Given the description of an element on the screen output the (x, y) to click on. 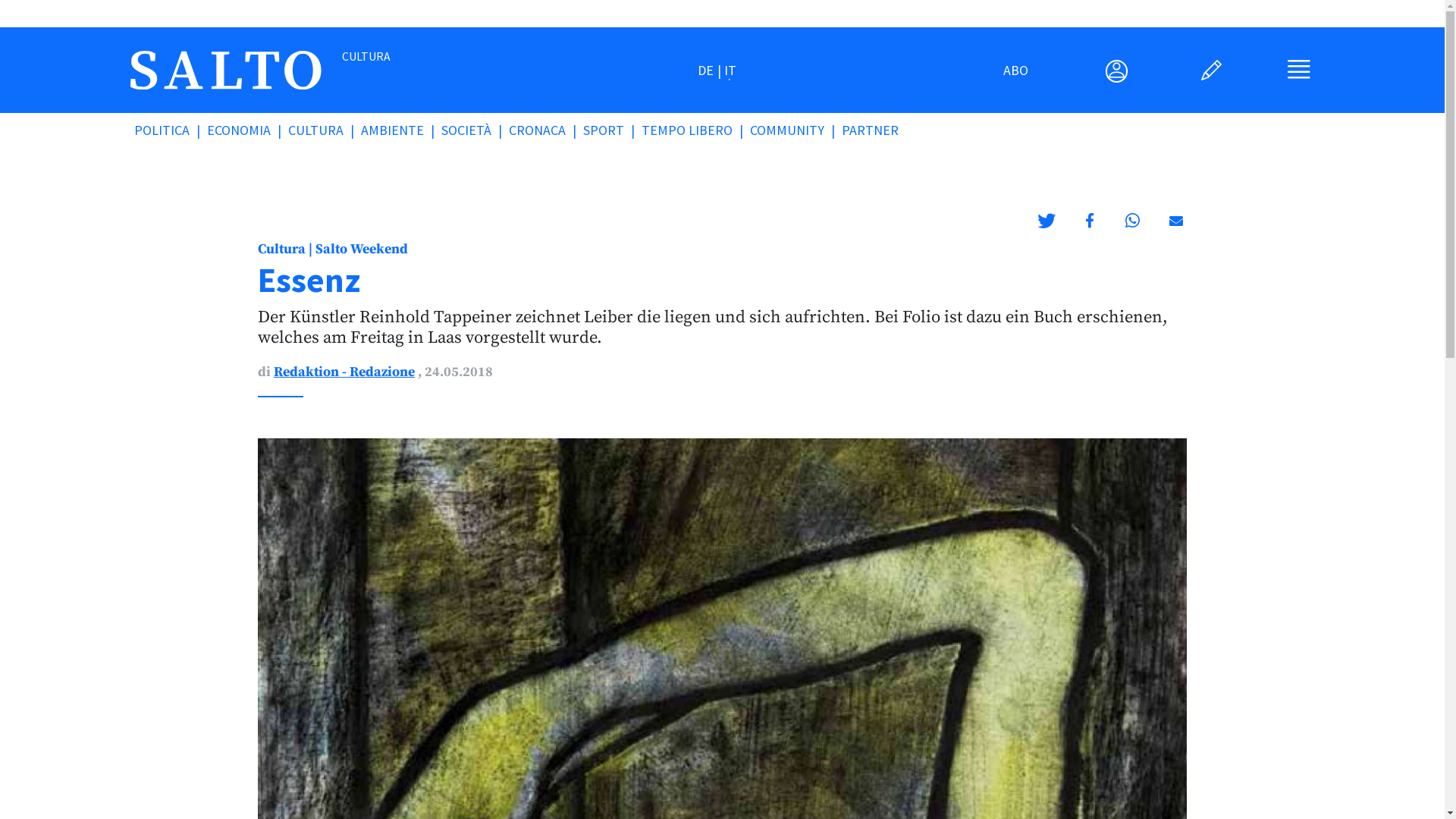
ABO Element type: text (1015, 69)
Redaktion - Redazione Element type: text (343, 371)
CRONACA Element type: text (545, 129)
Condividi su Twitter Element type: hover (1046, 219)
COMMUNITY Element type: text (795, 129)
Inviare via email Element type: hover (1175, 219)
AMBIENTE Element type: text (400, 129)
Main Menu Element type: hover (1298, 75)
IT Element type: text (730, 69)
User Menu Element type: hover (1116, 72)
POLITICA Element type: text (170, 129)
Cultura Element type: text (281, 248)
CULTURA Element type: text (324, 129)
SPORT Element type: text (612, 129)
DE Element type: text (709, 69)
Condividi su Facebook Element type: hover (1089, 219)
Condividi su Whatsapp Element type: hover (1132, 219)
  Element type: text (1213, 72)
salto.bz Element type: hover (225, 68)
Accedi Element type: hover (1213, 72)
PARTNER Element type: text (876, 129)
TEMPO LIBERO Element type: text (695, 129)
ECONOMIA Element type: text (247, 129)
